Given the description of an element on the screen output the (x, y) to click on. 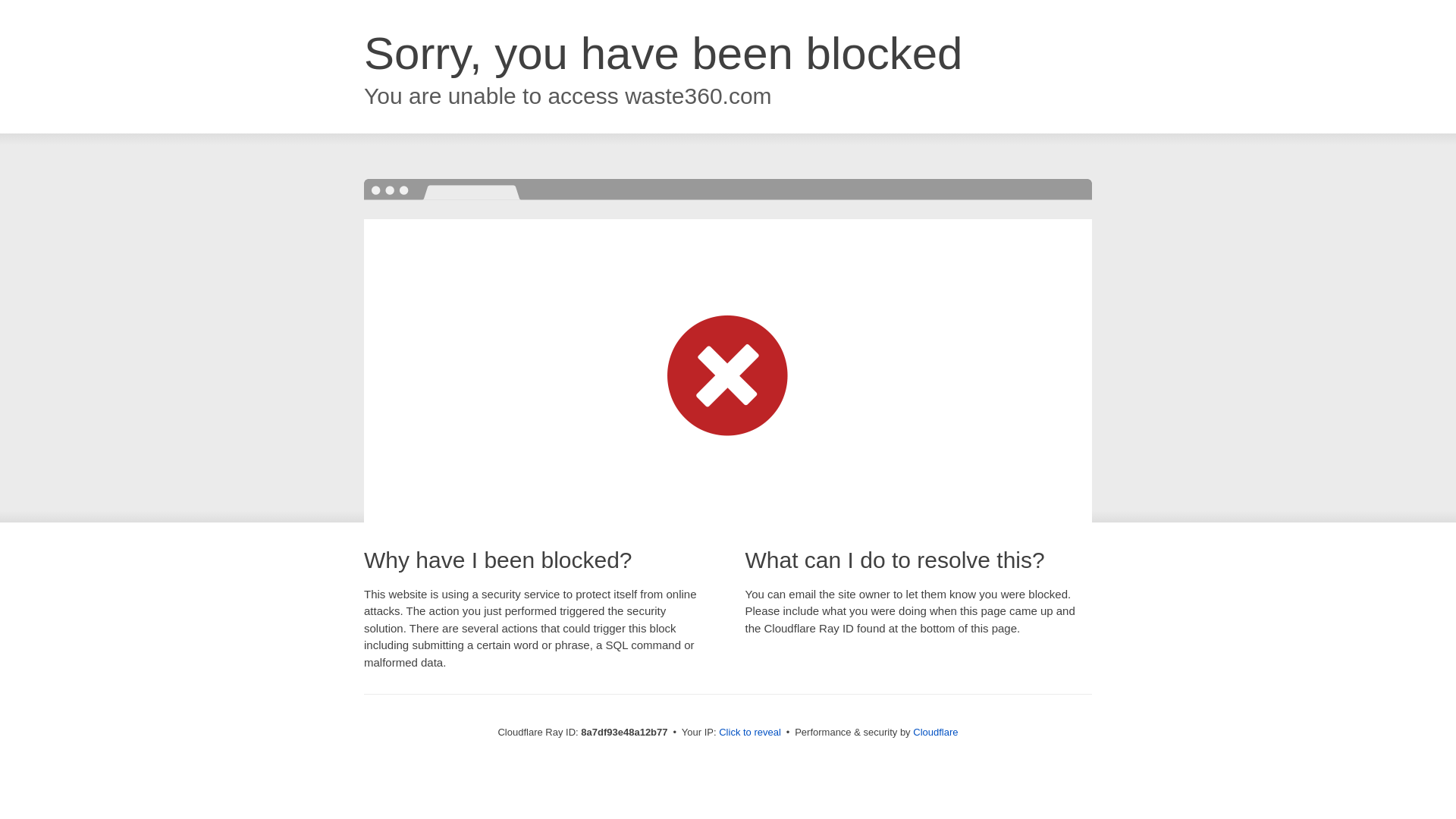
Click to reveal (749, 732)
Cloudflare (935, 731)
